Given the description of an element on the screen output the (x, y) to click on. 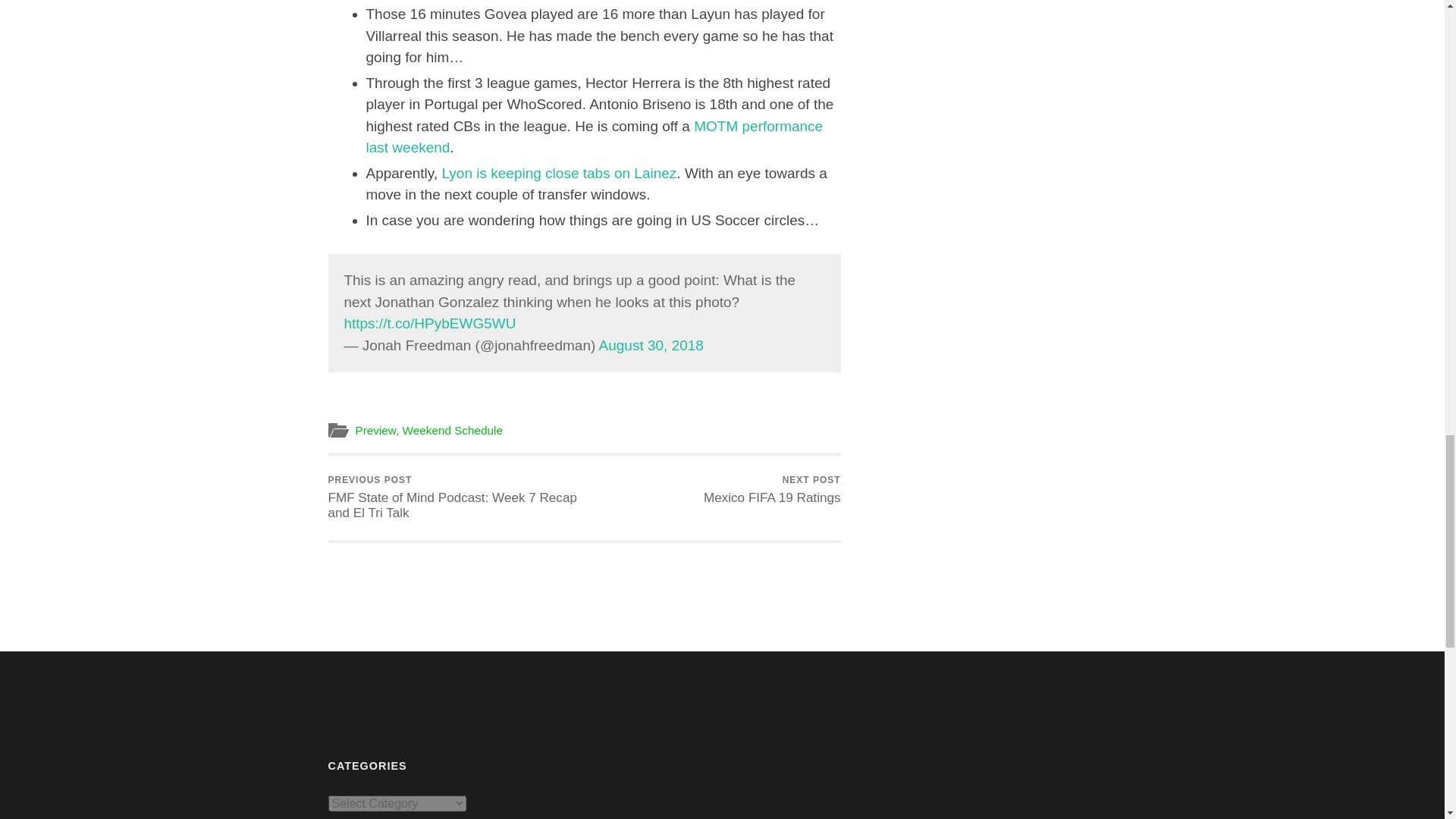
Lyon is keeping close tabs on Lainez (772, 489)
Preview (559, 172)
August 30, 2018 (375, 430)
MOTM performance last weekend (650, 344)
Weekend Schedule (593, 136)
